Given the description of an element on the screen output the (x, y) to click on. 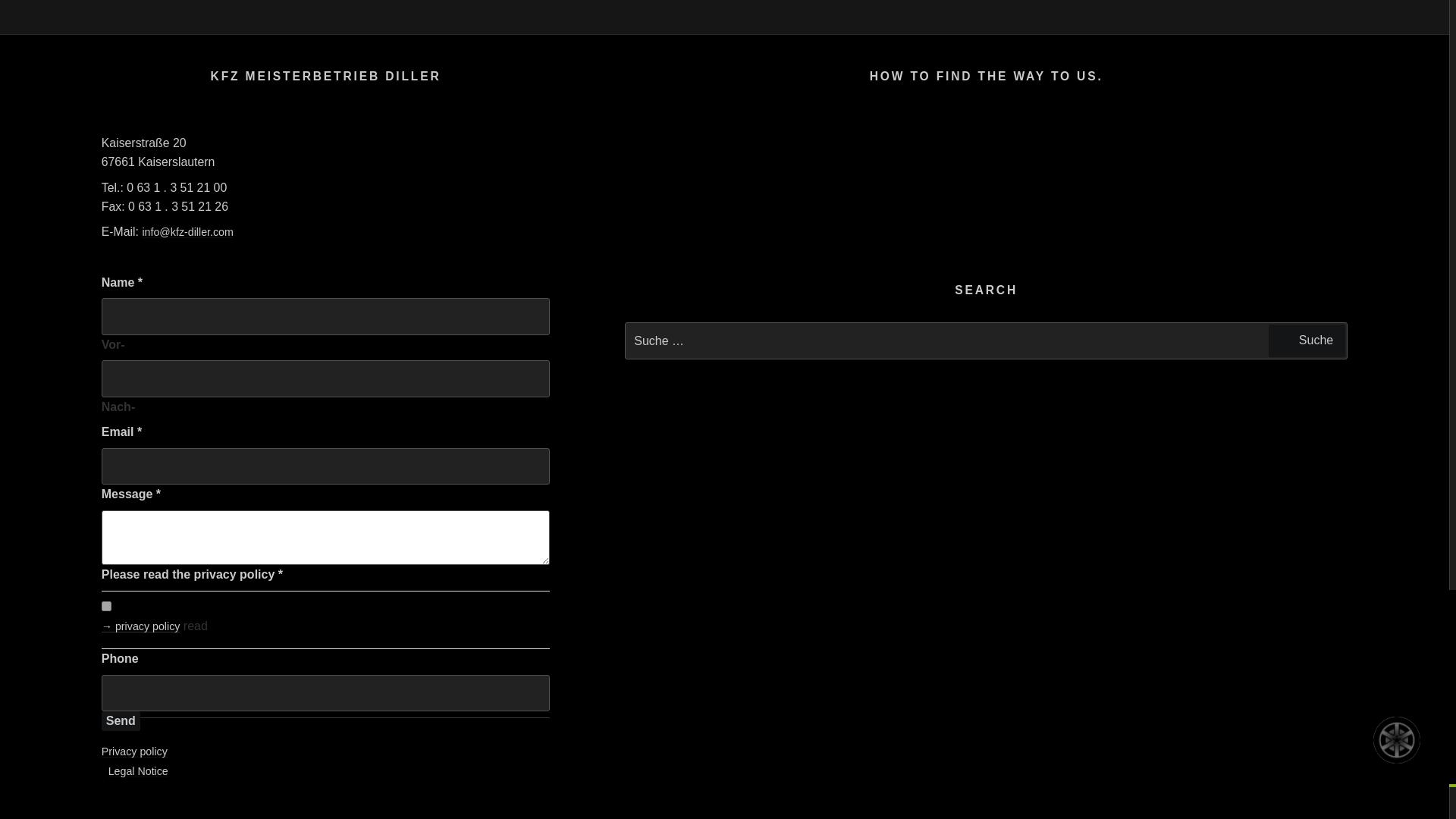
Legal Notice (137, 770)
Privacy policy (134, 751)
Suche (1306, 340)
Send (120, 721)
